Given the description of an element on the screen output the (x, y) to click on. 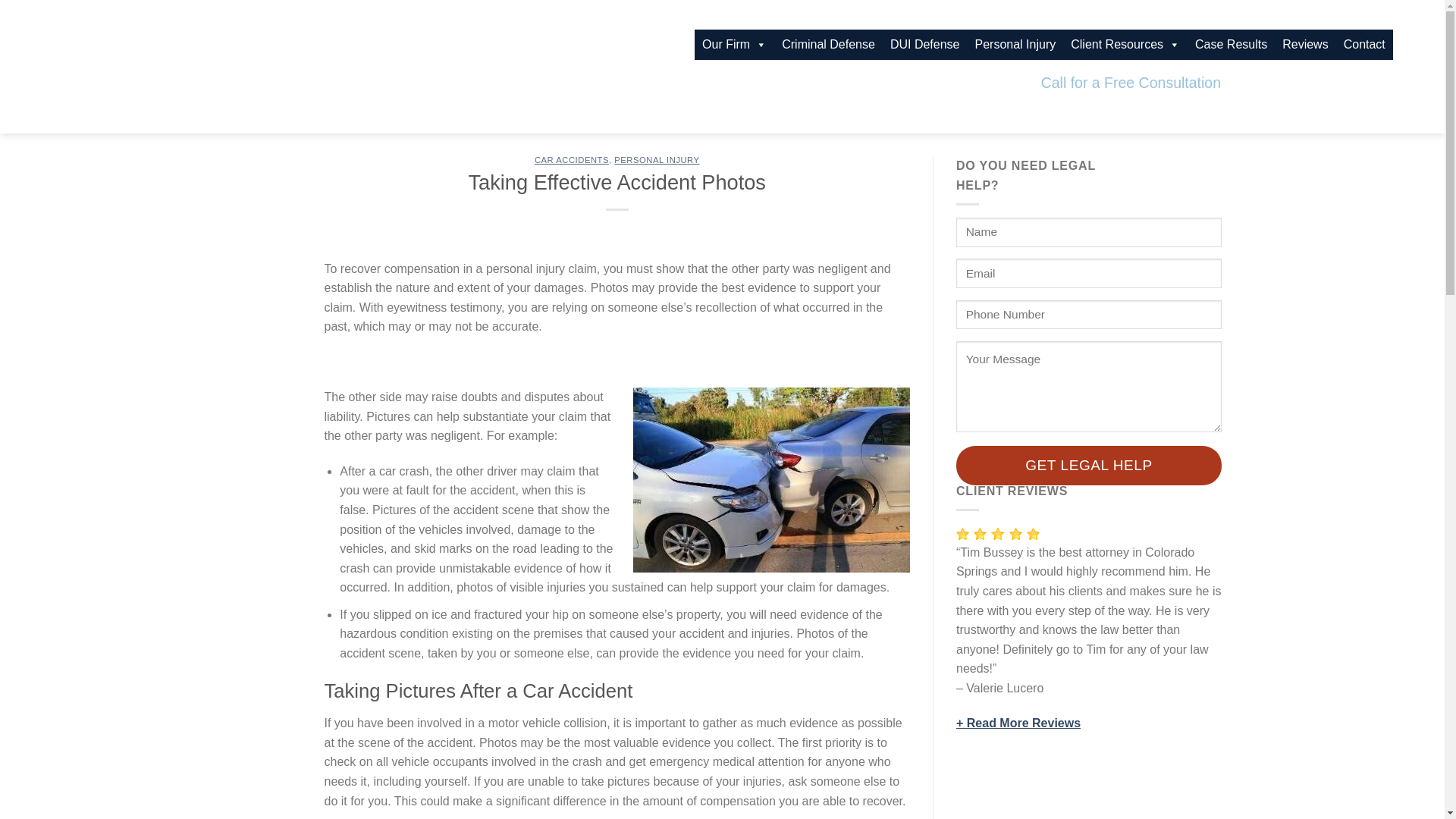
Case Results (1231, 44)
DUI Defense (925, 44)
Get Legal Help (1088, 465)
Personal Injury (1016, 44)
CAR ACCIDENTS (571, 159)
Call for a Free Consultation (1131, 83)
PERSONAL INJURY (656, 159)
Reviews (1305, 44)
Contact (1364, 44)
Client Resources (1125, 44)
